Given the description of an element on the screen output the (x, y) to click on. 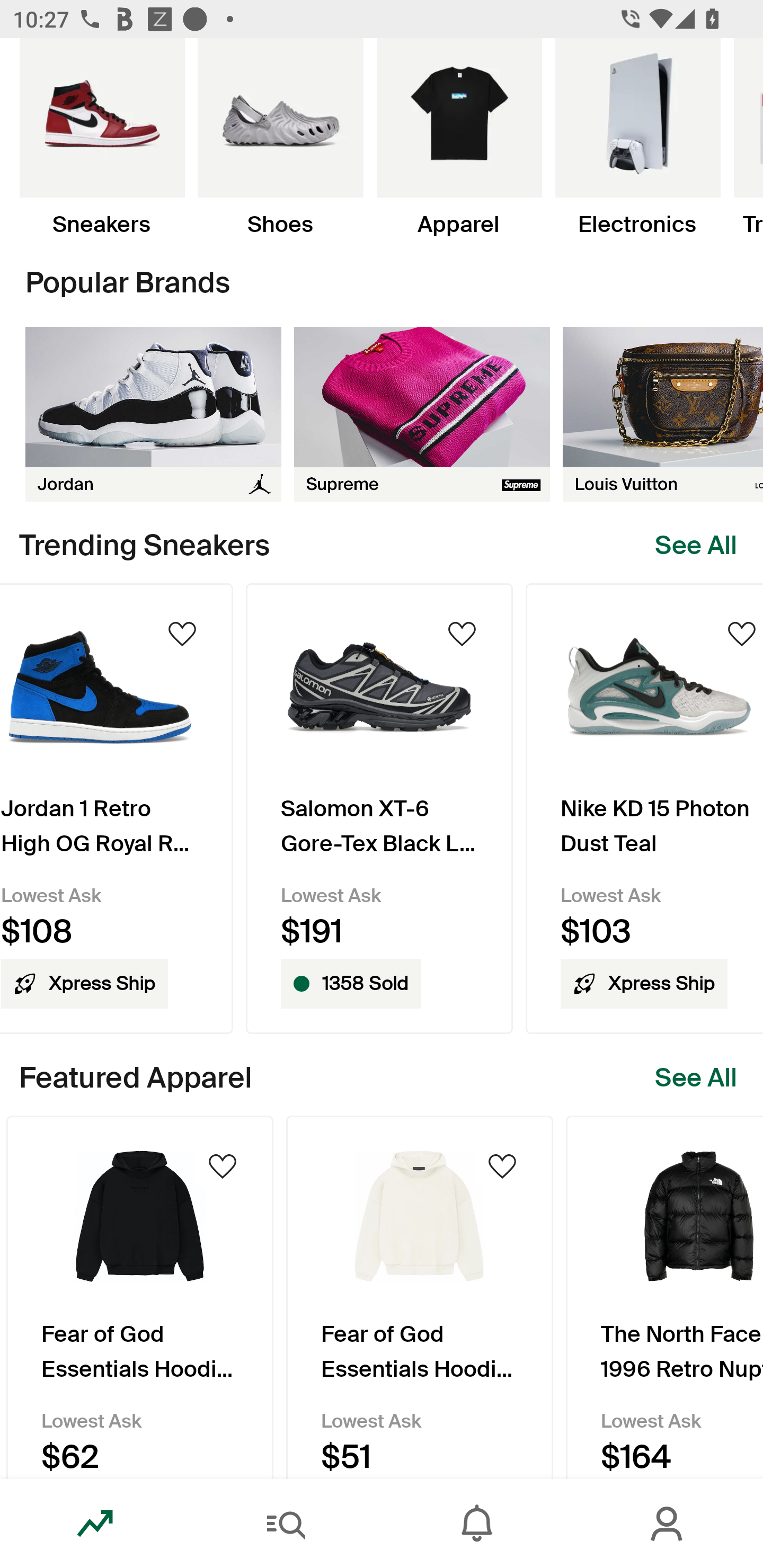
Product Image Sneakers (101, 137)
Product Image Shoes (280, 137)
Product Image Apparel (458, 137)
Product Image Electronics (637, 137)
jordan.jpg (153, 413)
supreme.jpg (421, 413)
lv.jpg (663, 413)
See All (695, 545)
See All (695, 1077)
Search (285, 1523)
Inbox (476, 1523)
Account (667, 1523)
